Given the description of an element on the screen output the (x, y) to click on. 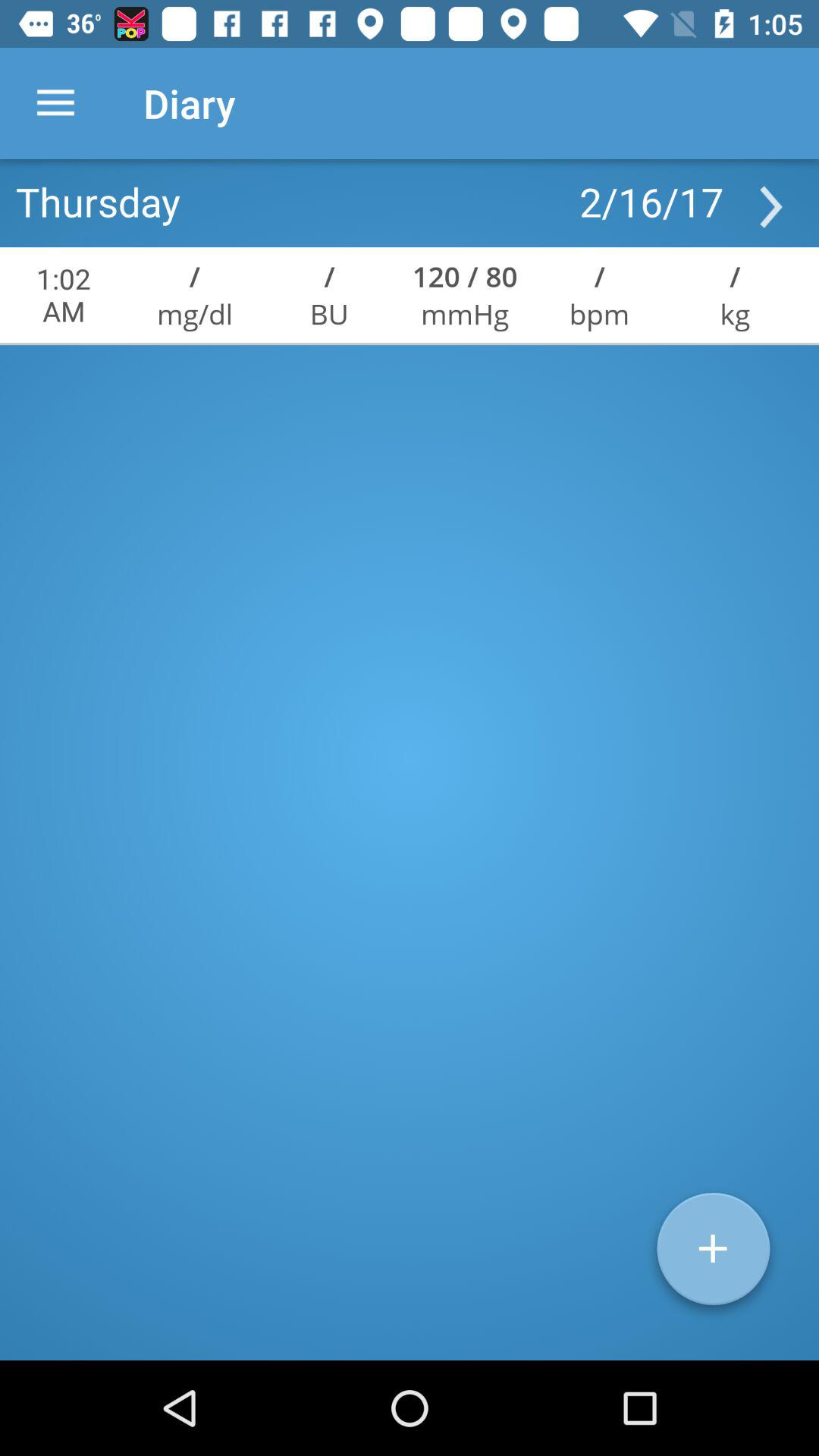
press icon to the left of diary item (55, 103)
